Given the description of an element on the screen output the (x, y) to click on. 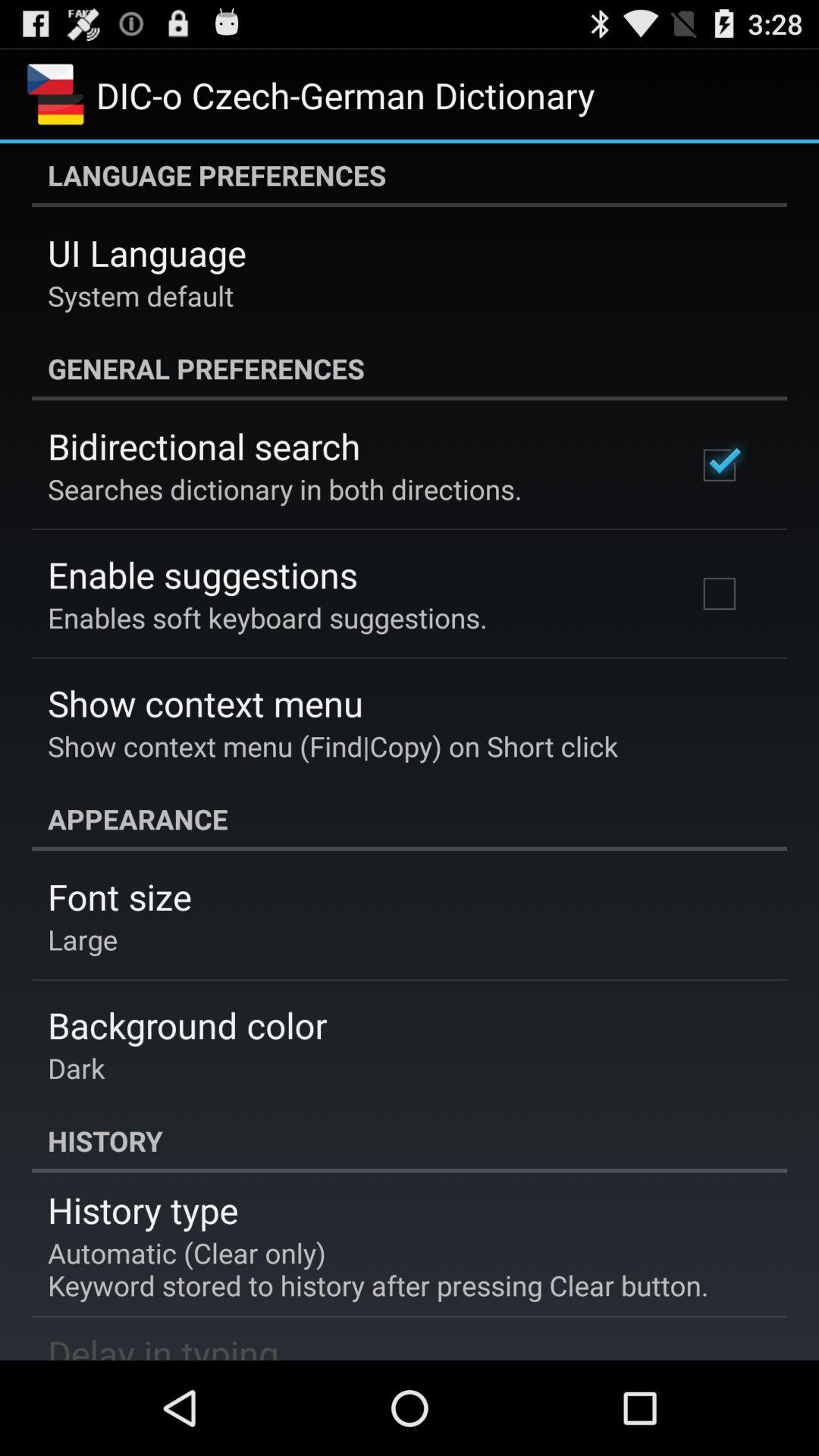
select the appearance app (409, 818)
